Given the description of an element on the screen output the (x, y) to click on. 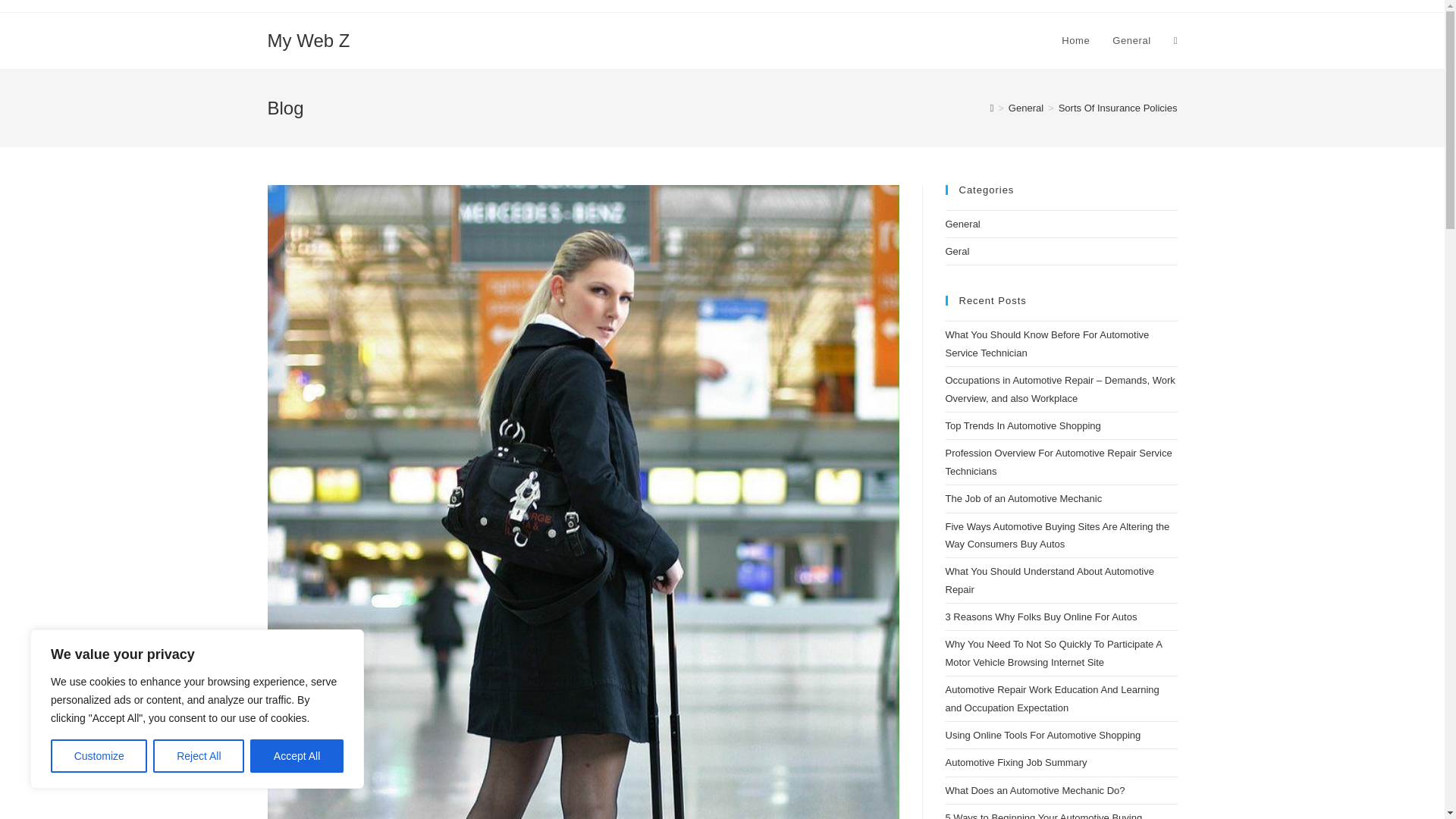
Sorts Of Insurance Policies (1117, 107)
General (1026, 107)
Customize (98, 756)
Reject All (198, 756)
Accept All (296, 756)
My Web Z (307, 40)
Home (1074, 40)
General (1130, 40)
